Given the description of an element on the screen output the (x, y) to click on. 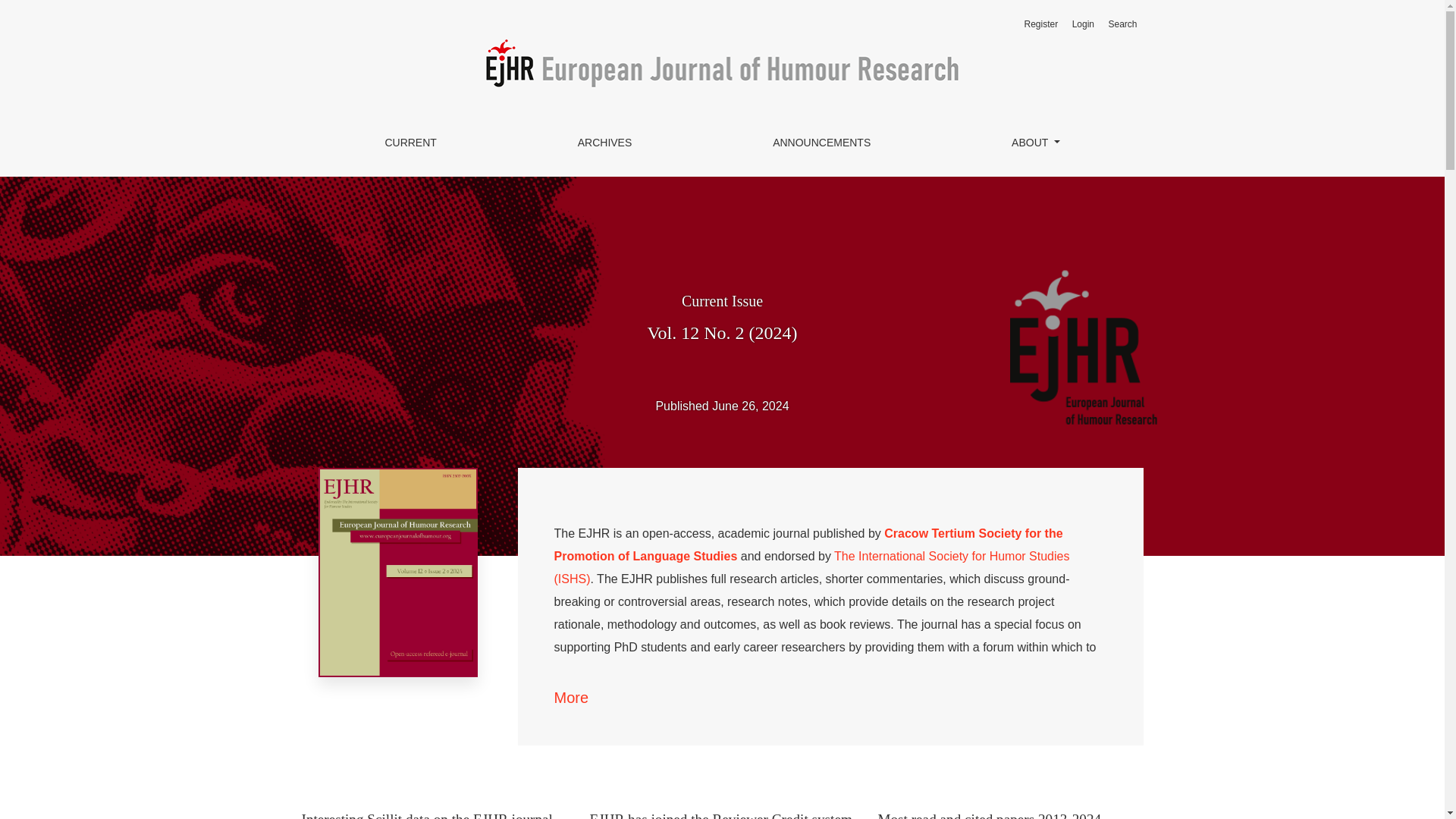
More (570, 697)
ARCHIVES (604, 142)
Cracow Tertium Society for the Promotion of Language Studies (807, 544)
Tertium (807, 544)
CURRENT (409, 142)
Login (1083, 24)
ANNOUNCEMENTS (821, 142)
Search (1121, 24)
ABOUT (1034, 142)
Register (1041, 24)
